Given the description of an element on the screen output the (x, y) to click on. 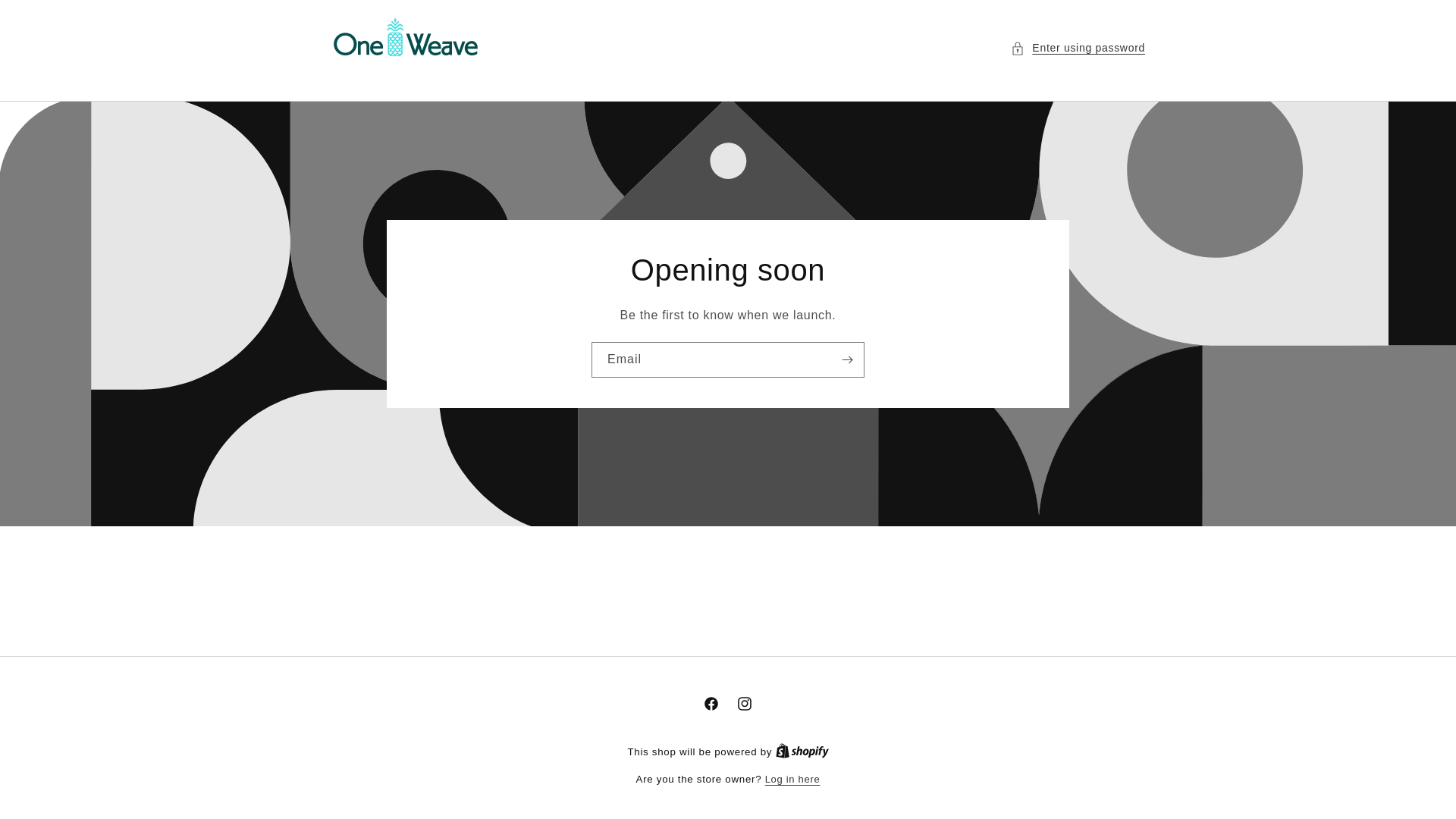
Log in here (793, 779)
Facebook (711, 703)
Skip to content (45, 17)
Instagram (744, 703)
